Given the description of an element on the screen output the (x, y) to click on. 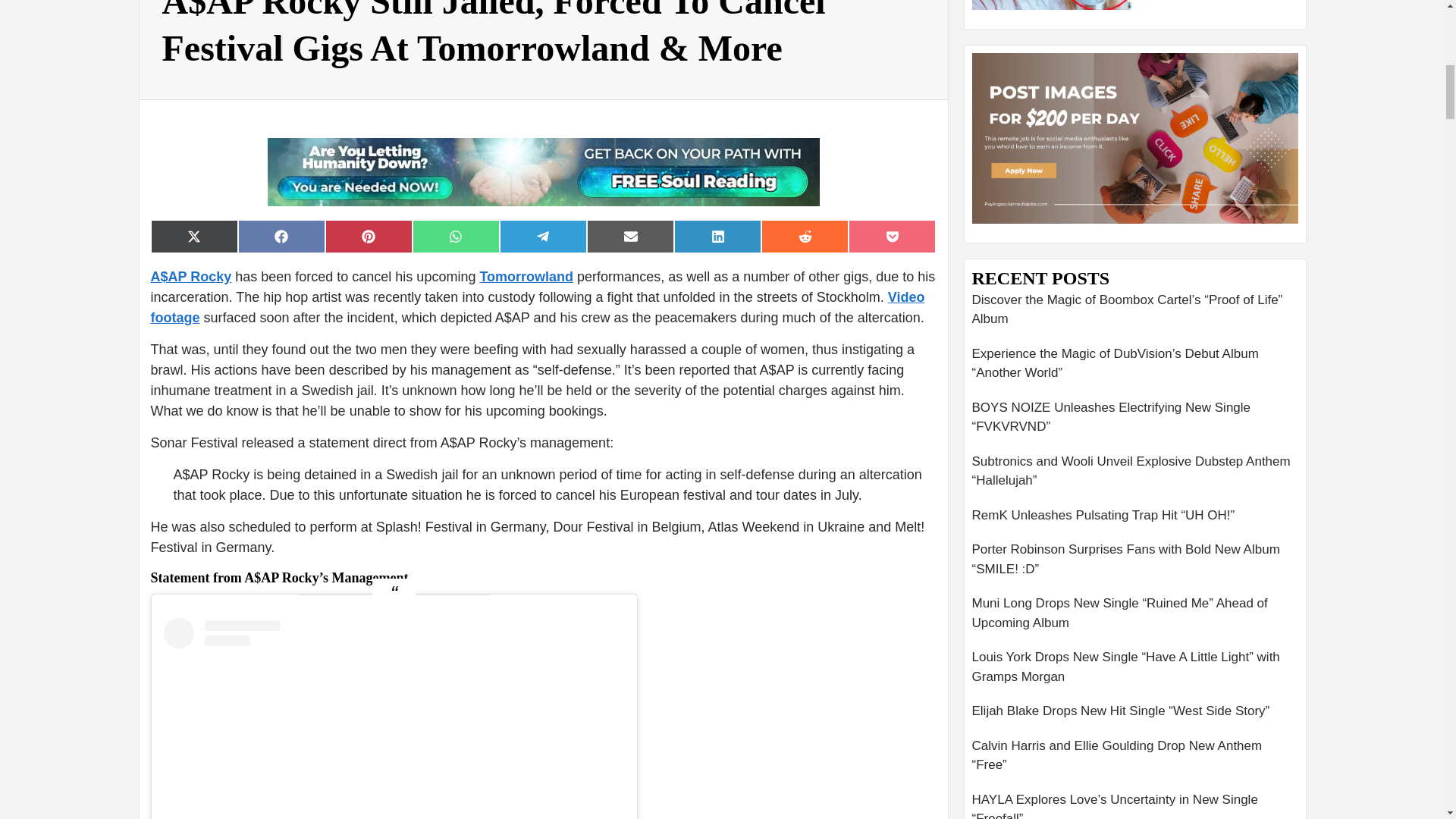
Share on WhatsApp (455, 236)
Tomorrowland (526, 276)
Share on Pinterest (368, 236)
Share on Facebook (281, 236)
View this post on Instagram (393, 718)
Share on Telegram (542, 236)
Video footage (536, 307)
Share on Pocket (892, 236)
Share on Reddit (804, 236)
Share on Email (630, 236)
Share on LinkedIn (717, 236)
